Given the description of an element on the screen output the (x, y) to click on. 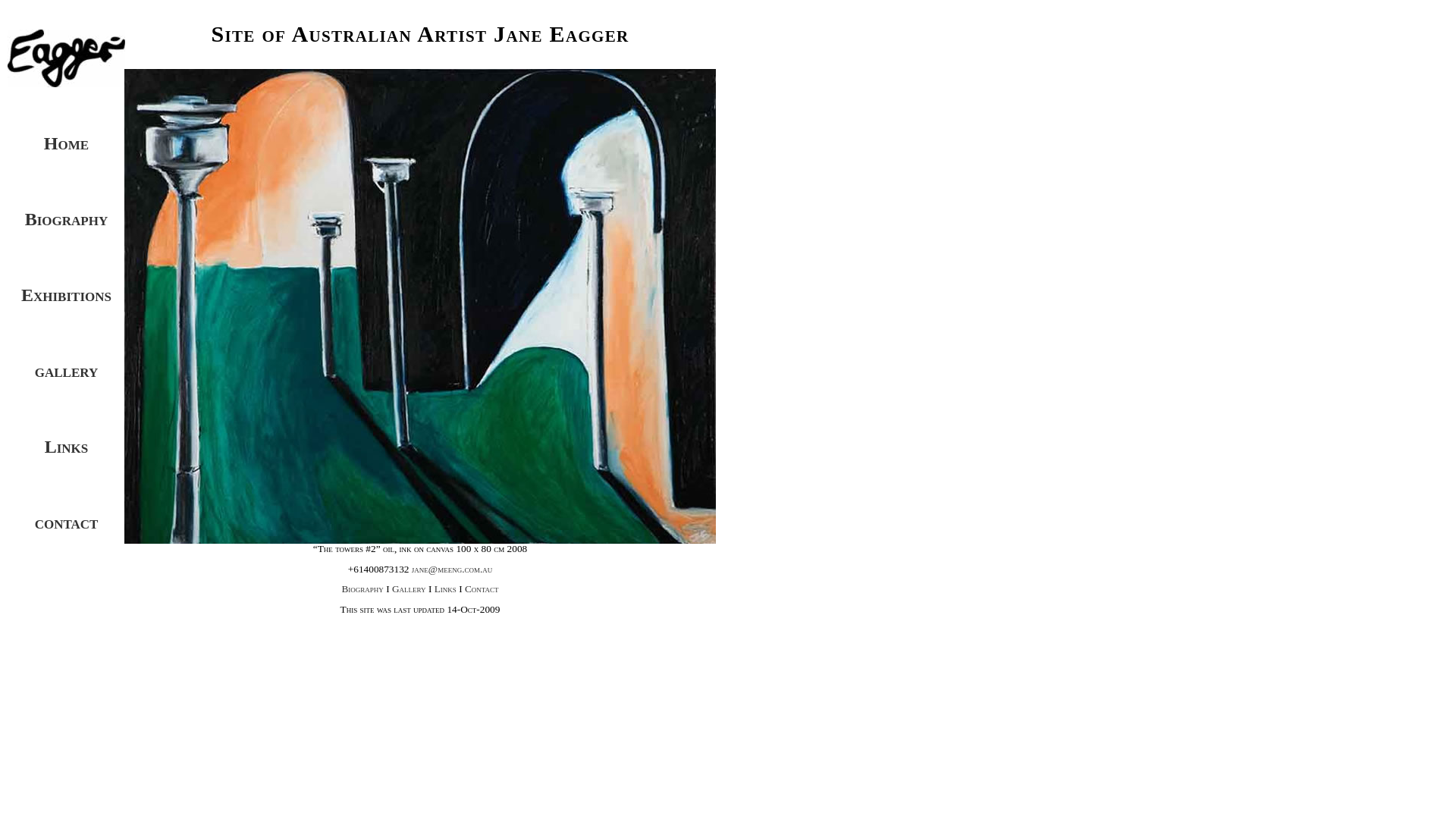
Home Element type: text (66, 105)
jane@meeng.com.au Element type: text (451, 568)
Links Element type: text (66, 446)
Exhibitions Element type: text (66, 294)
gallery Element type: text (65, 370)
Biography Element type: text (363, 588)
Contact Element type: text (481, 588)
Links Element type: text (445, 588)
contact Element type: text (66, 522)
Gallery Element type: text (409, 588)
Biography Element type: text (66, 219)
